Given the description of an element on the screen output the (x, y) to click on. 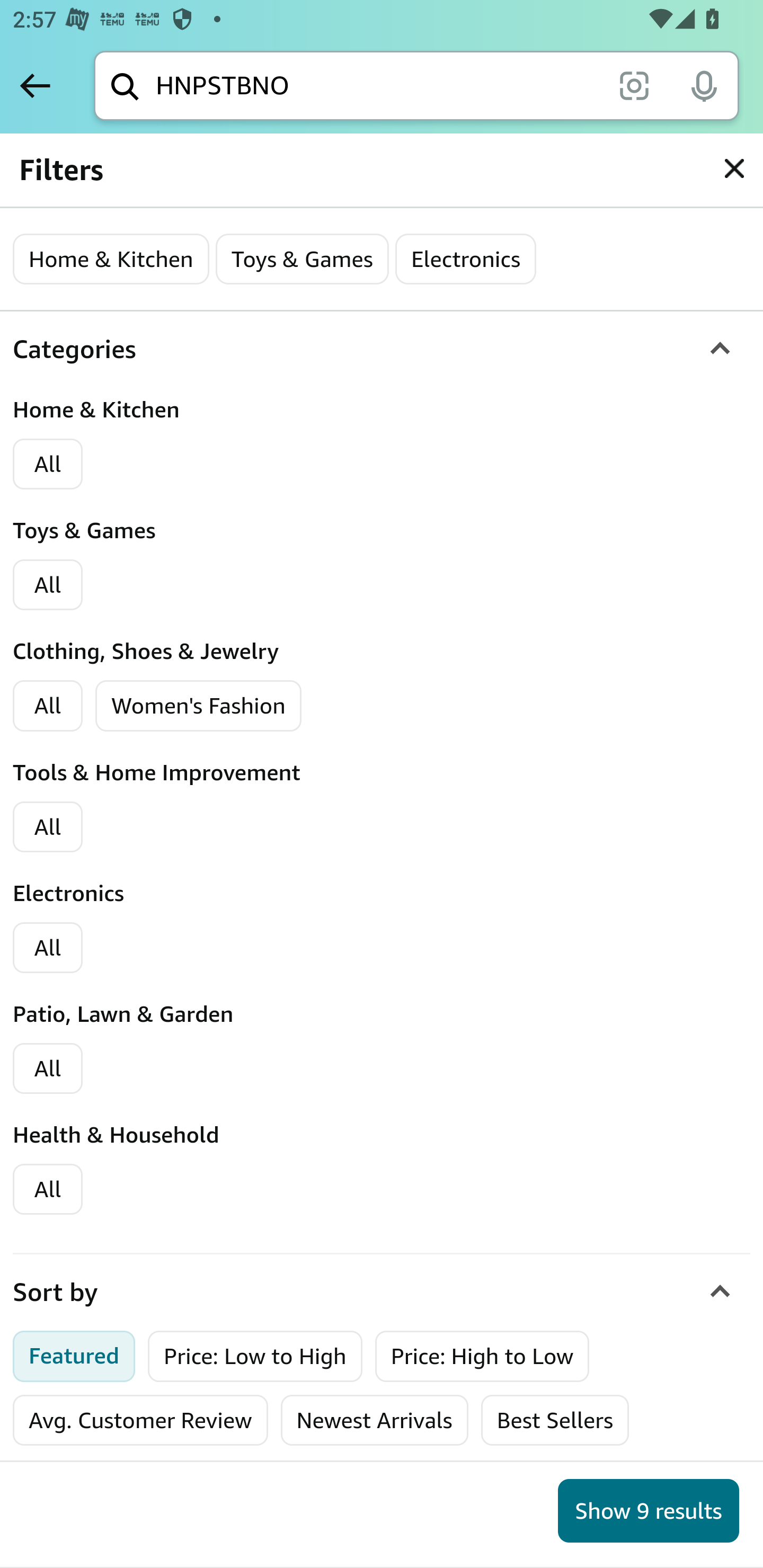
Back (35, 85)
scan it (633, 85)
s?k=HNPSTBNO# (733, 168)
Home & Kitchen (110, 258)
Toys & Games (301, 258)
Electronics (465, 258)
Categories (381, 349)
All (47, 464)
All (47, 585)
All (47, 706)
Women's Fashion (198, 706)
All (47, 826)
All (47, 947)
All (47, 1068)
All (47, 1189)
Sort by (381, 1292)
Price: Low to High (255, 1355)
Price: High to Low (481, 1355)
Avg. Customer Review (140, 1419)
Newest Arrivals (374, 1419)
Best Sellers (554, 1419)
Show 9 results (648, 1510)
